Given the description of an element on the screen output the (x, y) to click on. 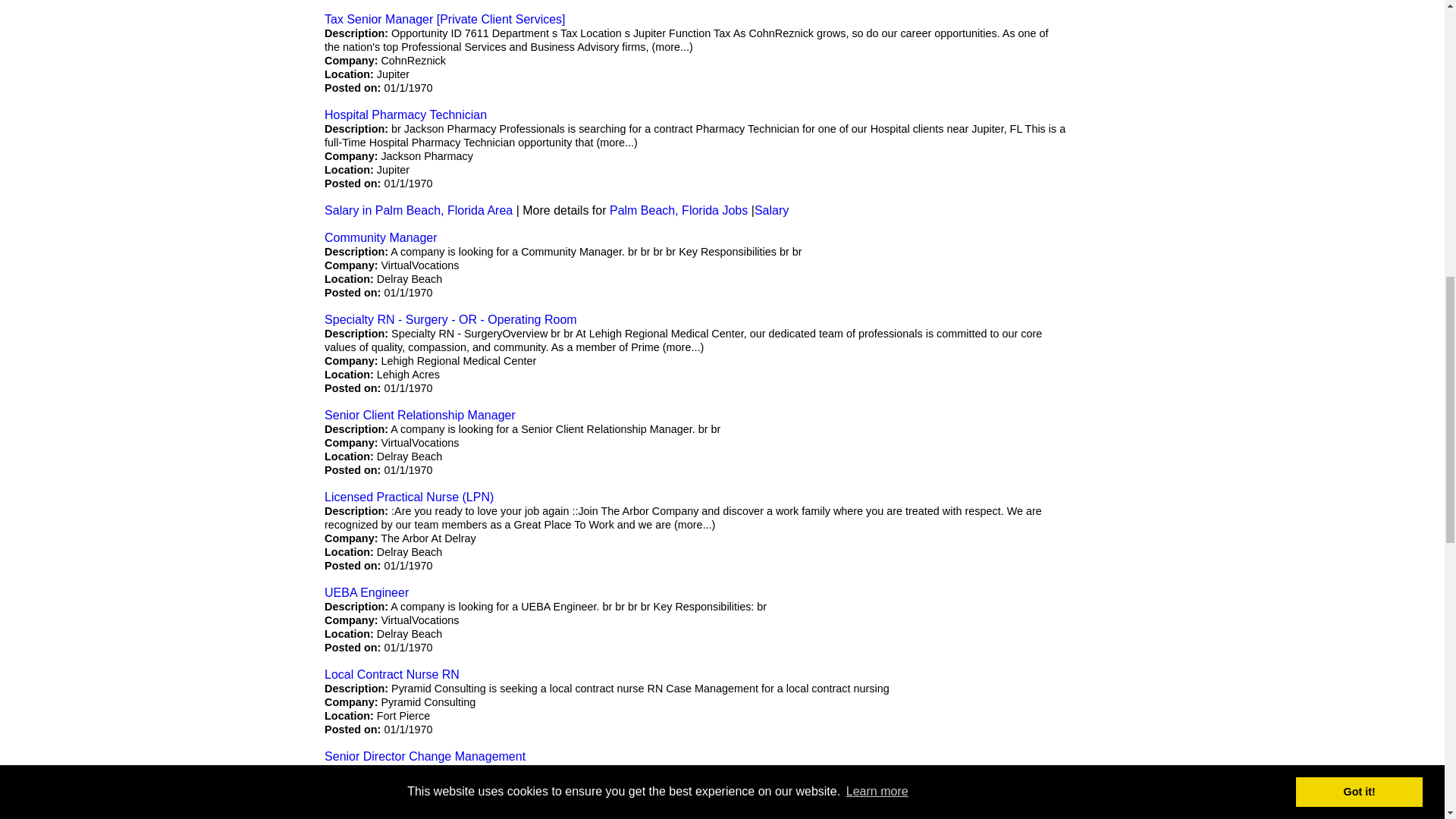
Palm Beach, Florida Jobs (679, 210)
Senior Client Relationship Manager (419, 414)
Hospital Pharmacy Technician (405, 114)
Salary in Palm Beach, Florida Area (418, 210)
Specialty RN - Surgery - OR - Operating Room (450, 318)
Local Contract Nurse RN (392, 674)
UEBA Engineer (366, 592)
Hospital Pharmacy Technician (405, 114)
Salary (771, 210)
Community Manager (381, 237)
Senior Director Change Management (424, 756)
